Given the description of an element on the screen output the (x, y) to click on. 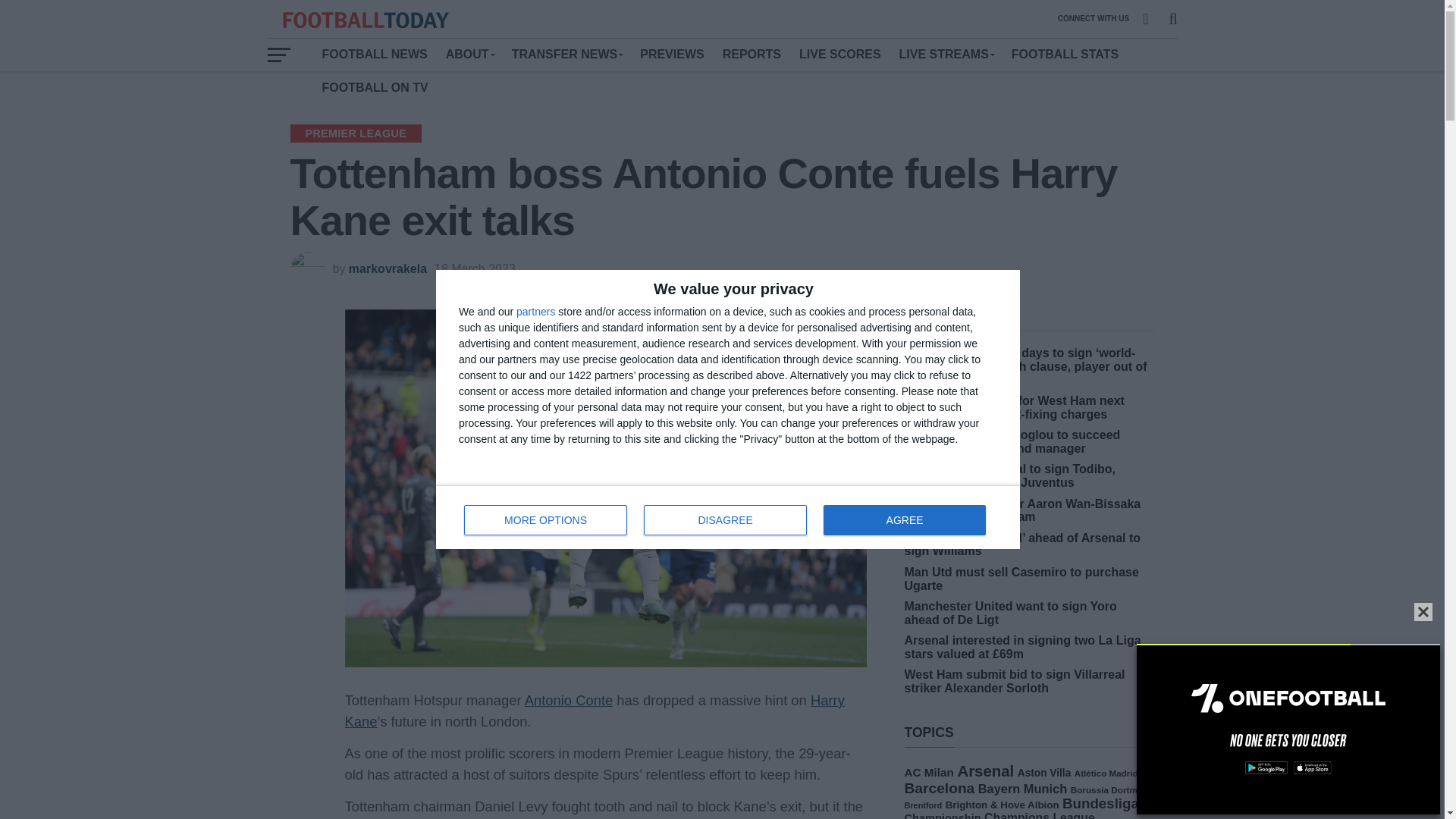
MORE OPTIONS (545, 520)
partners (727, 516)
Posts by markovrakela (535, 311)
DISAGREE (387, 268)
AGREE (724, 520)
FOOTBALL NEWS (904, 520)
